Given the description of an element on the screen output the (x, y) to click on. 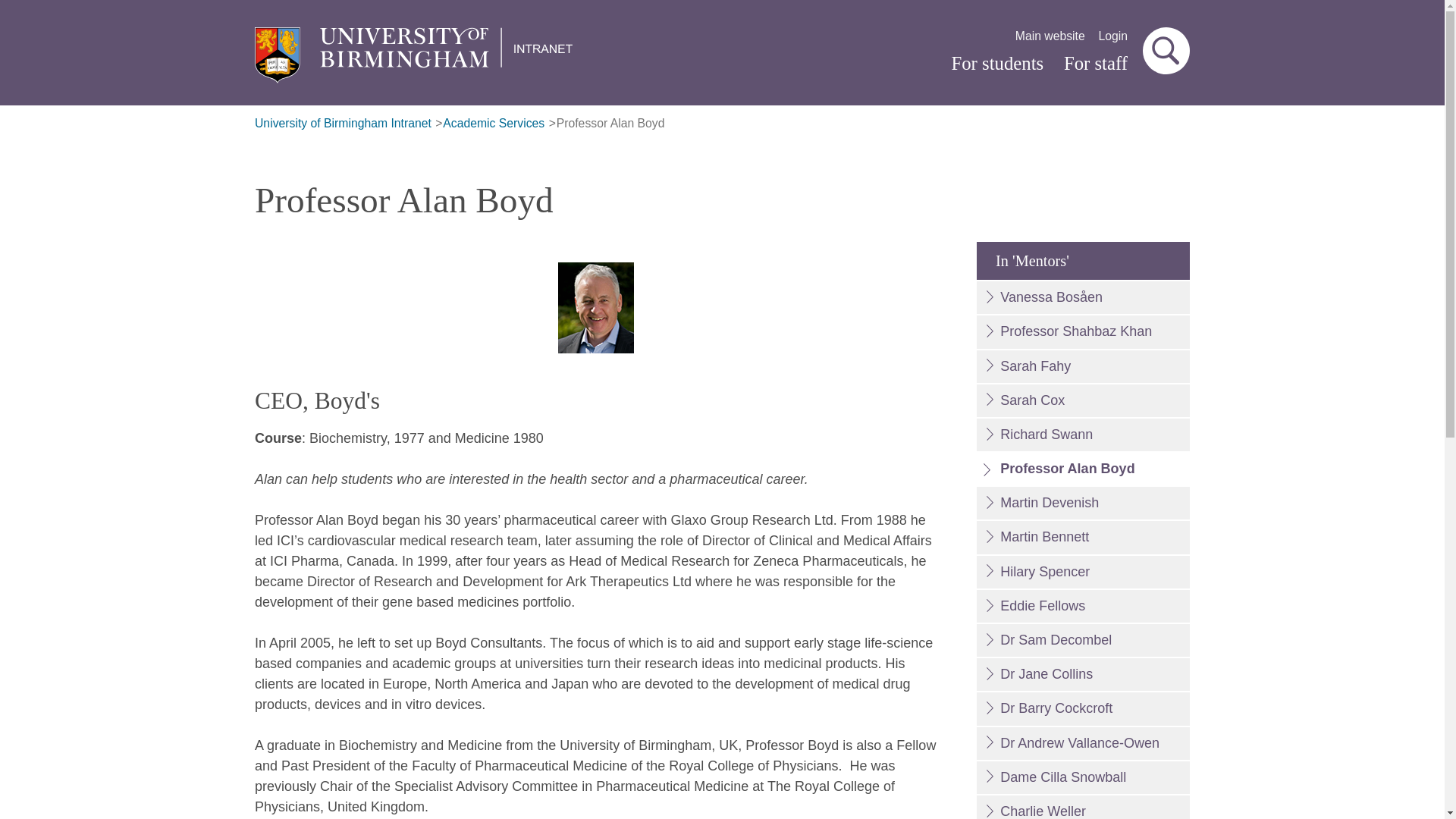
Main website (1050, 36)
Professor Alan Boyd (1082, 468)
Search (1165, 50)
Professor Shahbaz Khan (1082, 331)
Dr Sam Decombel (1082, 640)
Academic Services (493, 123)
Martin Devenish (1082, 502)
Richard Swann (1082, 434)
For staff (1095, 63)
Sarah Cox (1082, 400)
